Given the description of an element on the screen output the (x, y) to click on. 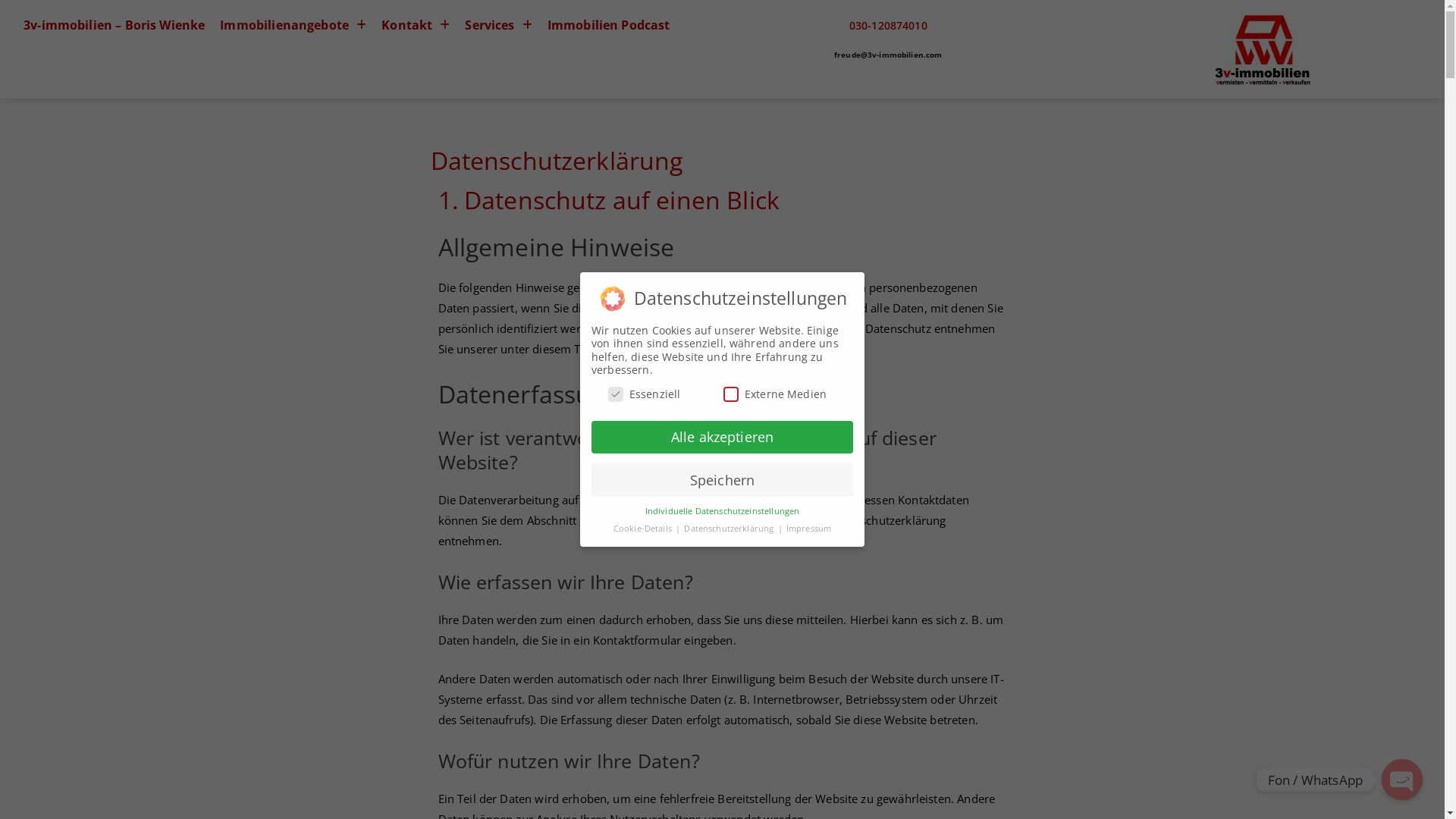
Services Element type: text (498, 24)
Cookie-Details Element type: text (643, 528)
Speichern Element type: text (722, 479)
Individuelle Datenschutzeinstellungen Element type: text (722, 510)
Alle akzeptieren Element type: text (722, 437)
Immobilienangebote Element type: text (292, 24)
Immobilien Podcast Element type: text (608, 24)
Impressum Element type: text (808, 528)
Kontakt Element type: text (415, 24)
030-120874010 Element type: text (888, 25)
Immobilien vermieten vermitteln verkaufen Element type: hover (1262, 49)
